Given the description of an element on the screen output the (x, y) to click on. 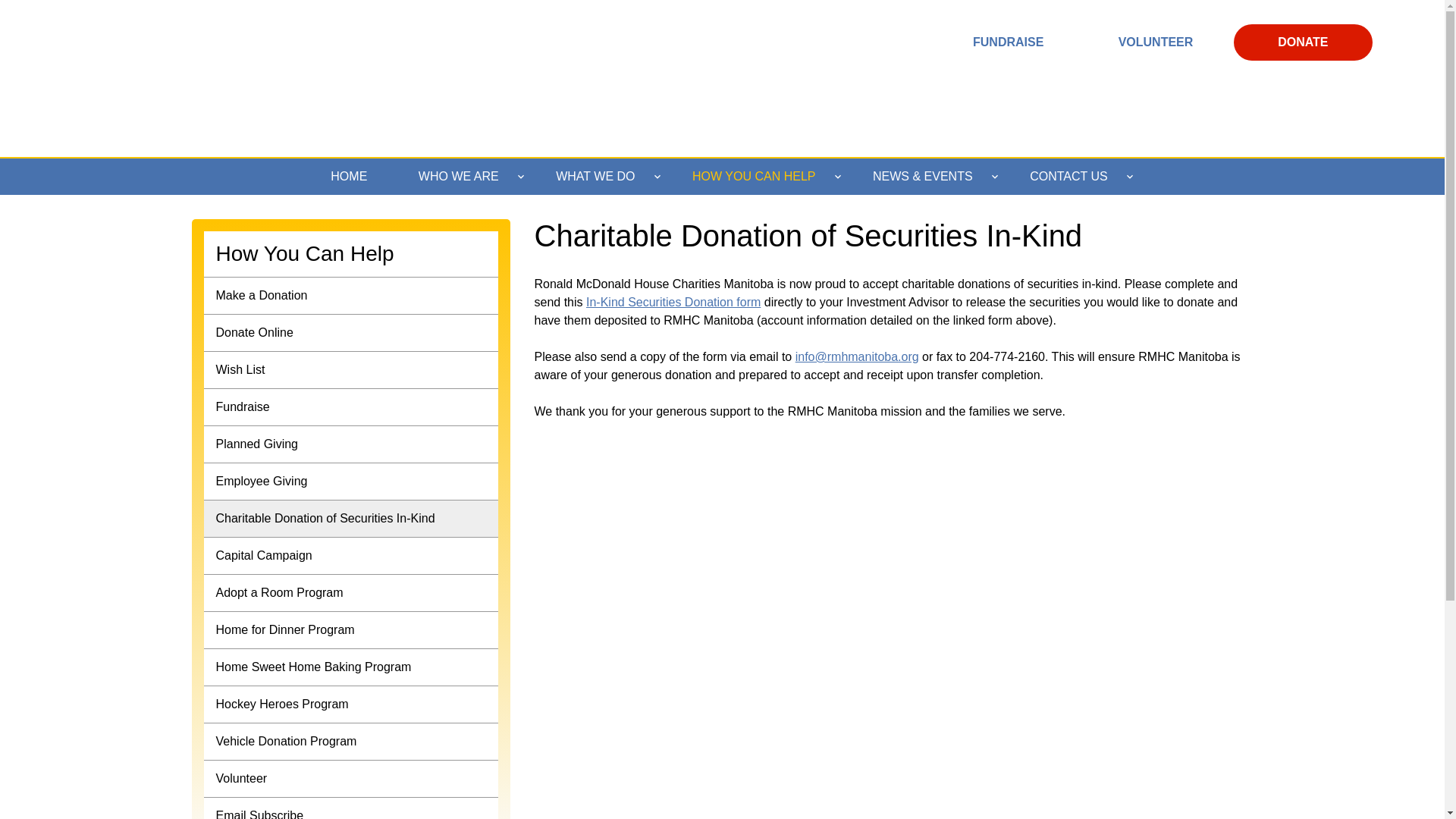
VOLUNTEER (1155, 42)
Ronald McDonald House Charities - Manitoba (234, 75)
WHAT WE DO (597, 176)
HOME (349, 176)
WHO WE ARE (461, 176)
Ronald McDonald House Charities - Manitoba (234, 75)
DONATE (1303, 42)
FUNDRAISE (1008, 42)
HOW YOU CAN HELP (756, 176)
RMHC Manitoba (724, 18)
